Given the description of an element on the screen output the (x, y) to click on. 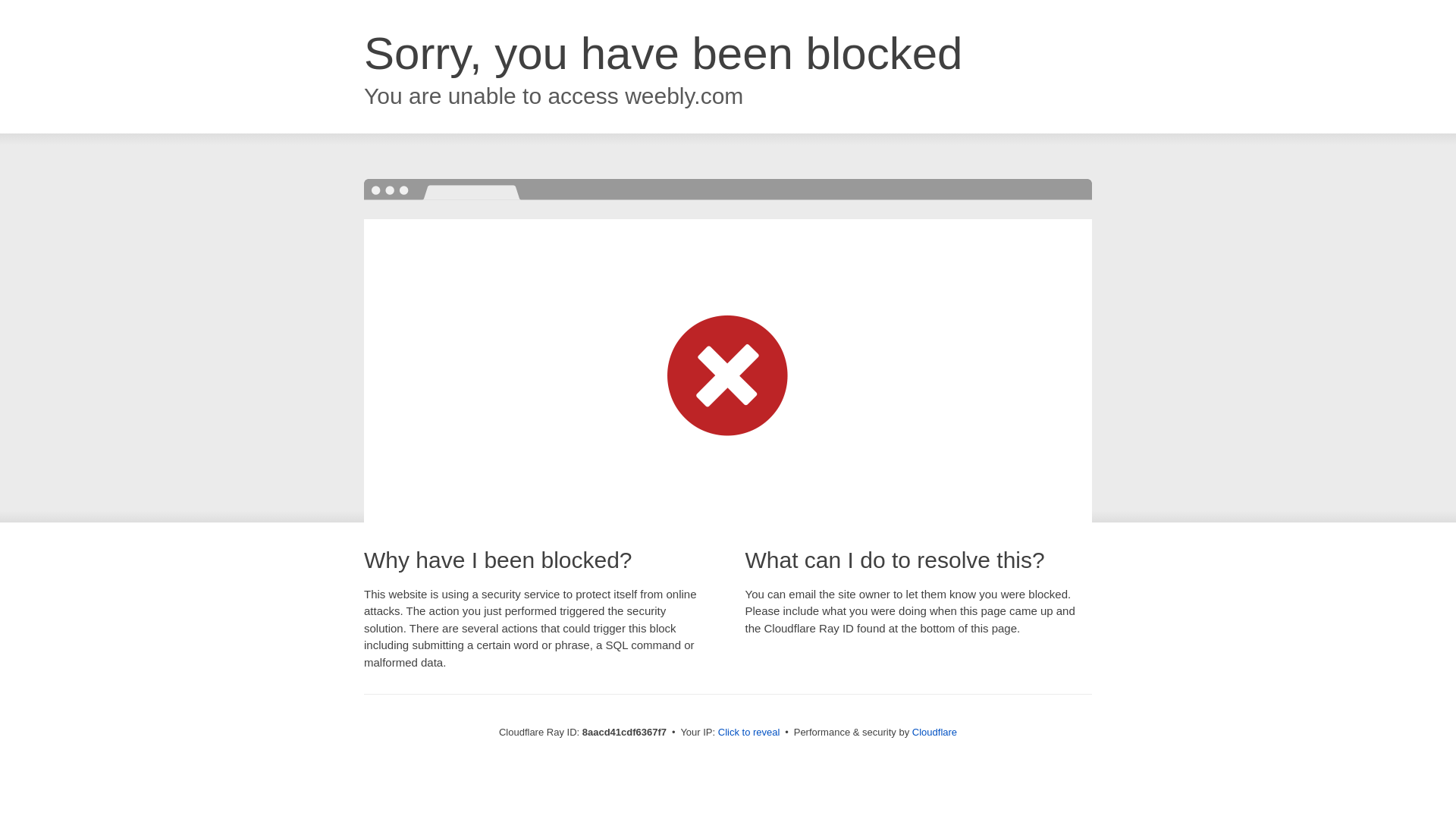
Cloudflare (934, 731)
Click to reveal (748, 732)
